Given the description of an element on the screen output the (x, y) to click on. 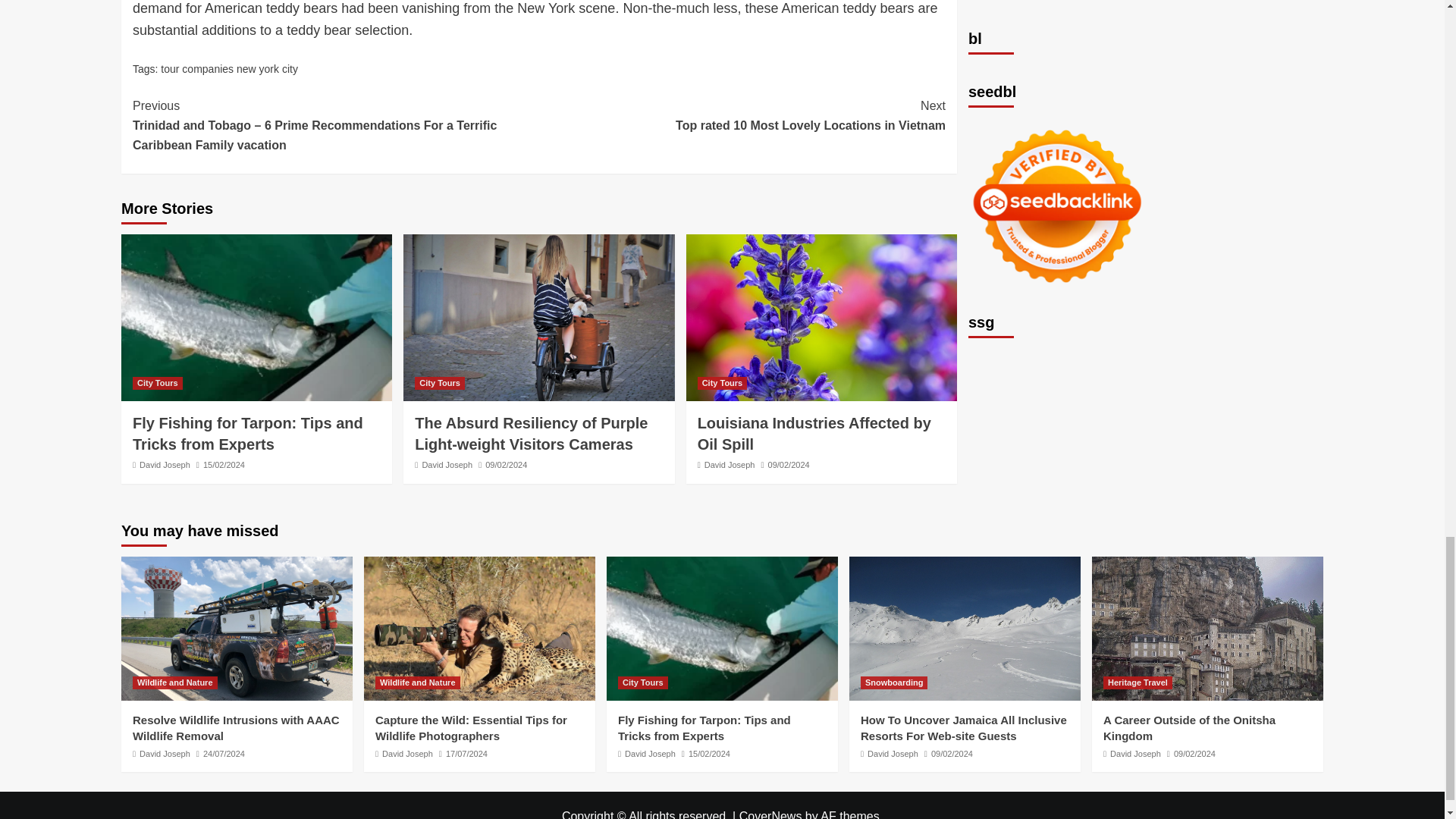
Capture the Wild: Essential Tips for Wildlife Photographers (479, 628)
Louisiana Industries Affected by Oil Spill (814, 433)
Fly Fishing for Tarpon: Tips and Tricks from Experts (255, 317)
A Career Outside of the Onitsha Kingdom (1207, 628)
David Joseph (729, 464)
David Joseph (446, 464)
Fly Fishing for Tarpon: Tips and Tricks from Experts (722, 628)
Louisiana Industries Affected by Oil Spill (820, 317)
David Joseph (164, 464)
City Tours (157, 382)
Resolve Wildlife Intrusions with AAAC Wildlife Removal (236, 628)
tour companies new york city (229, 69)
